Given the description of an element on the screen output the (x, y) to click on. 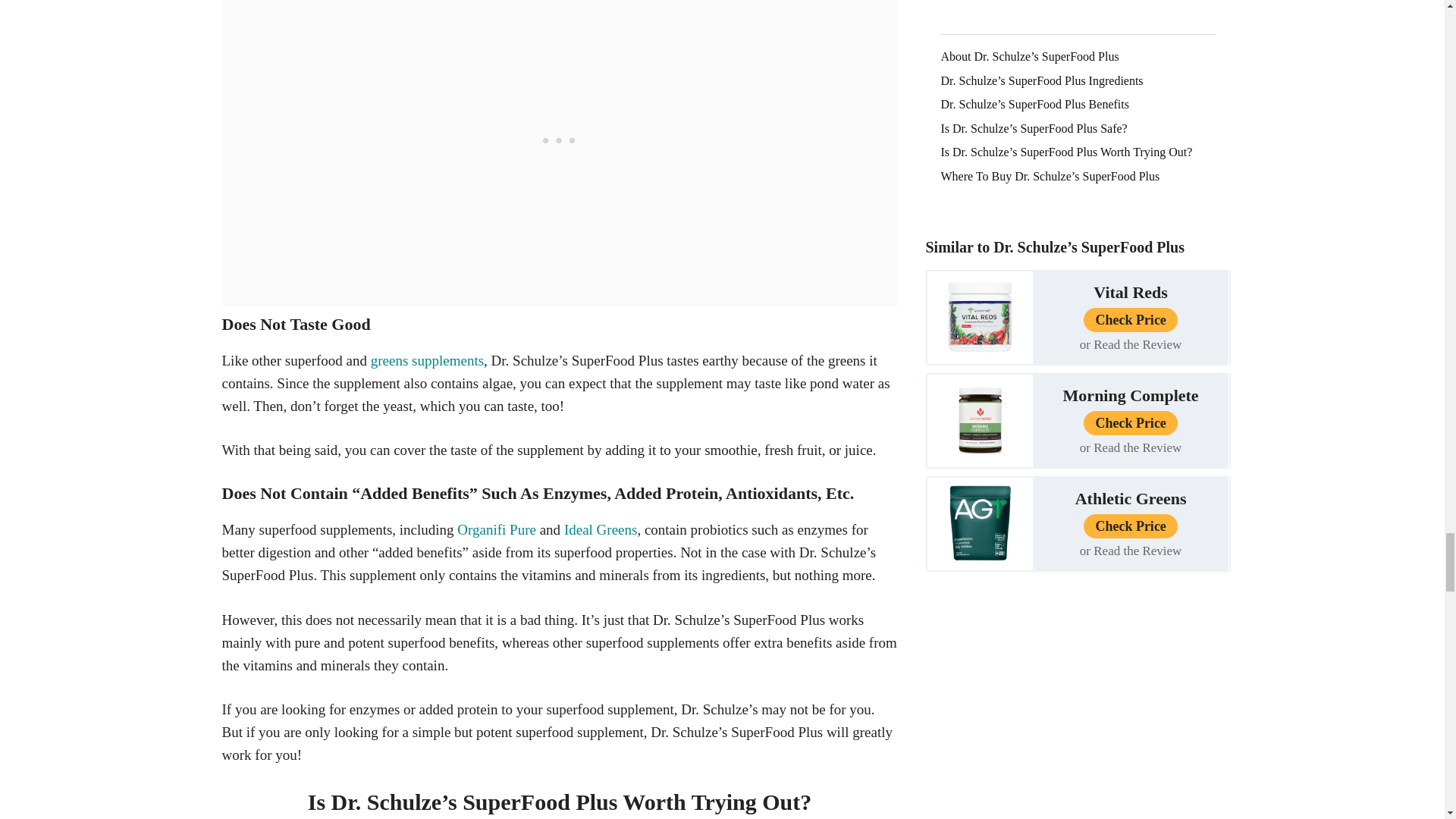
greens supplements (427, 360)
